Given the description of an element on the screen output the (x, y) to click on. 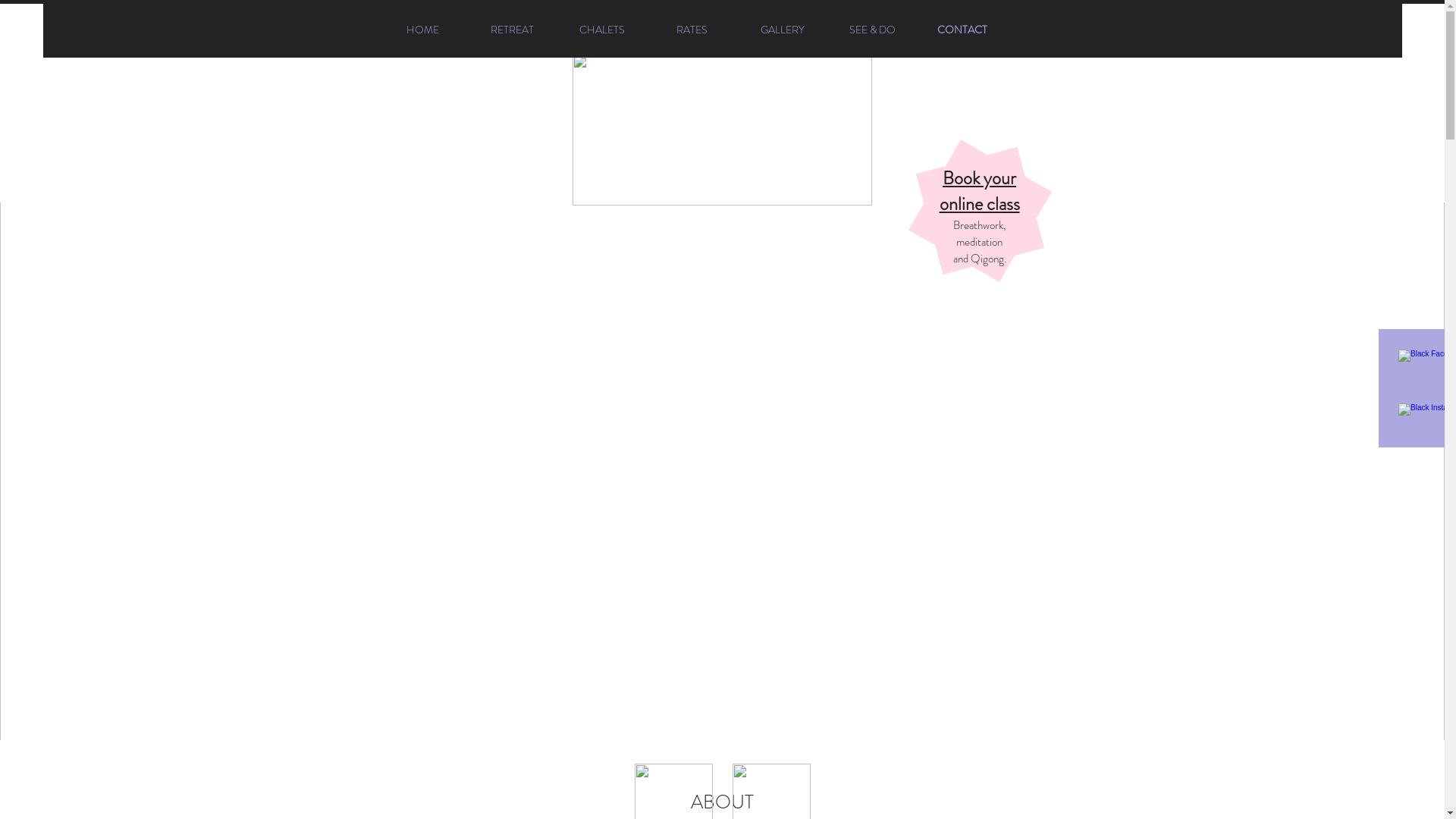
SEE & DO Element type: text (872, 30)
GALLERY Element type: text (781, 30)
HOME Element type: text (422, 30)
Book your online class Element type: text (978, 190)
RETREAT Element type: text (511, 30)
RATES Element type: text (692, 30)
CHALETS Element type: text (601, 30)
CONTACT Element type: text (962, 30)
